Given the description of an element on the screen output the (x, y) to click on. 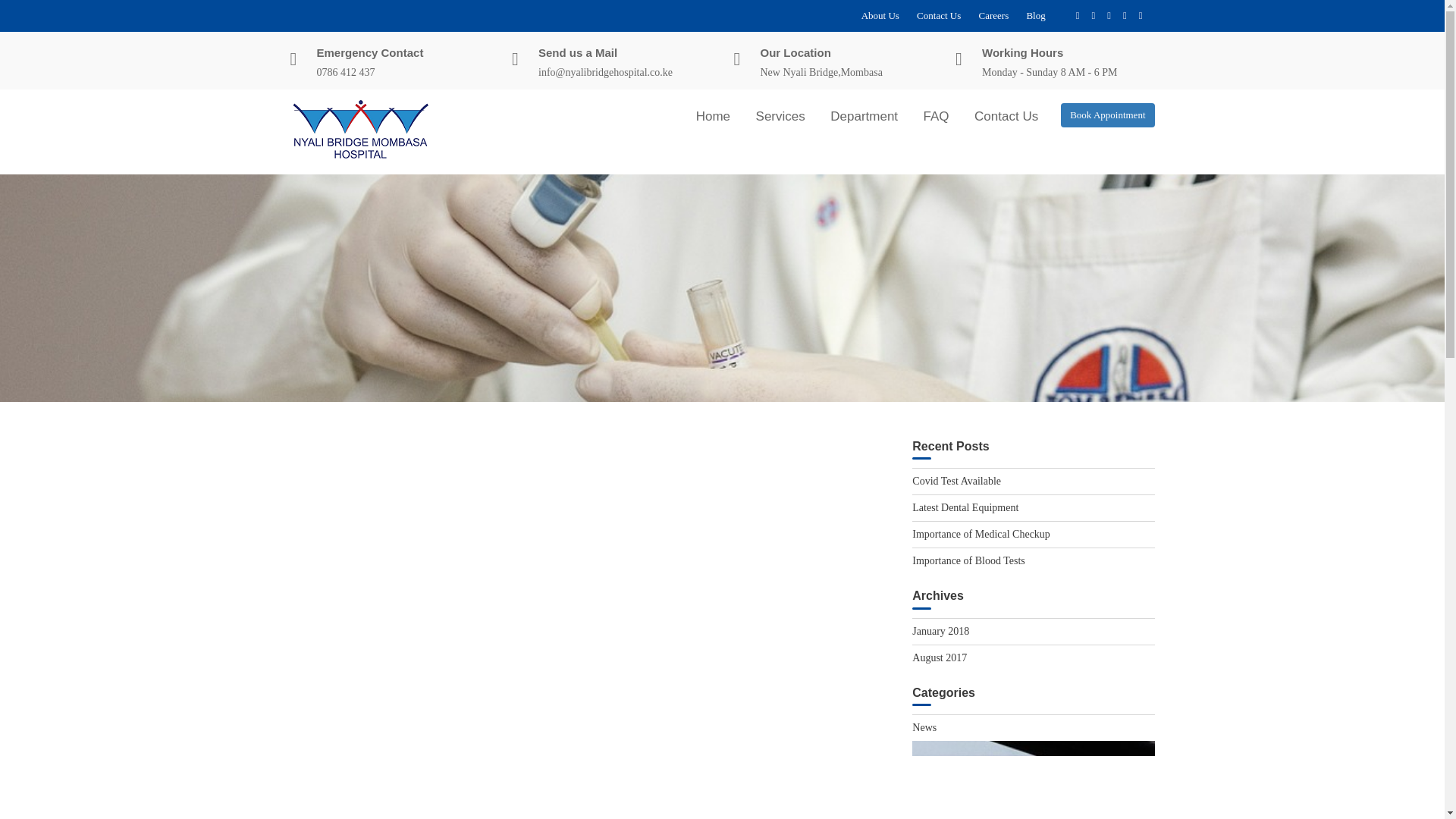
Importance of Blood Tests (968, 560)
Contact Us (938, 15)
Book Appointment (1107, 115)
Importance of Medical Checkup (980, 533)
Careers (993, 15)
Covid Test Available (956, 480)
Department (863, 116)
About Us (880, 15)
Contact Us (1005, 116)
Services (780, 116)
FAQ (936, 116)
January 2018 (940, 631)
Home (712, 116)
August 2017 (939, 657)
Latest Dental Equipment (964, 507)
